Given the description of an element on the screen output the (x, y) to click on. 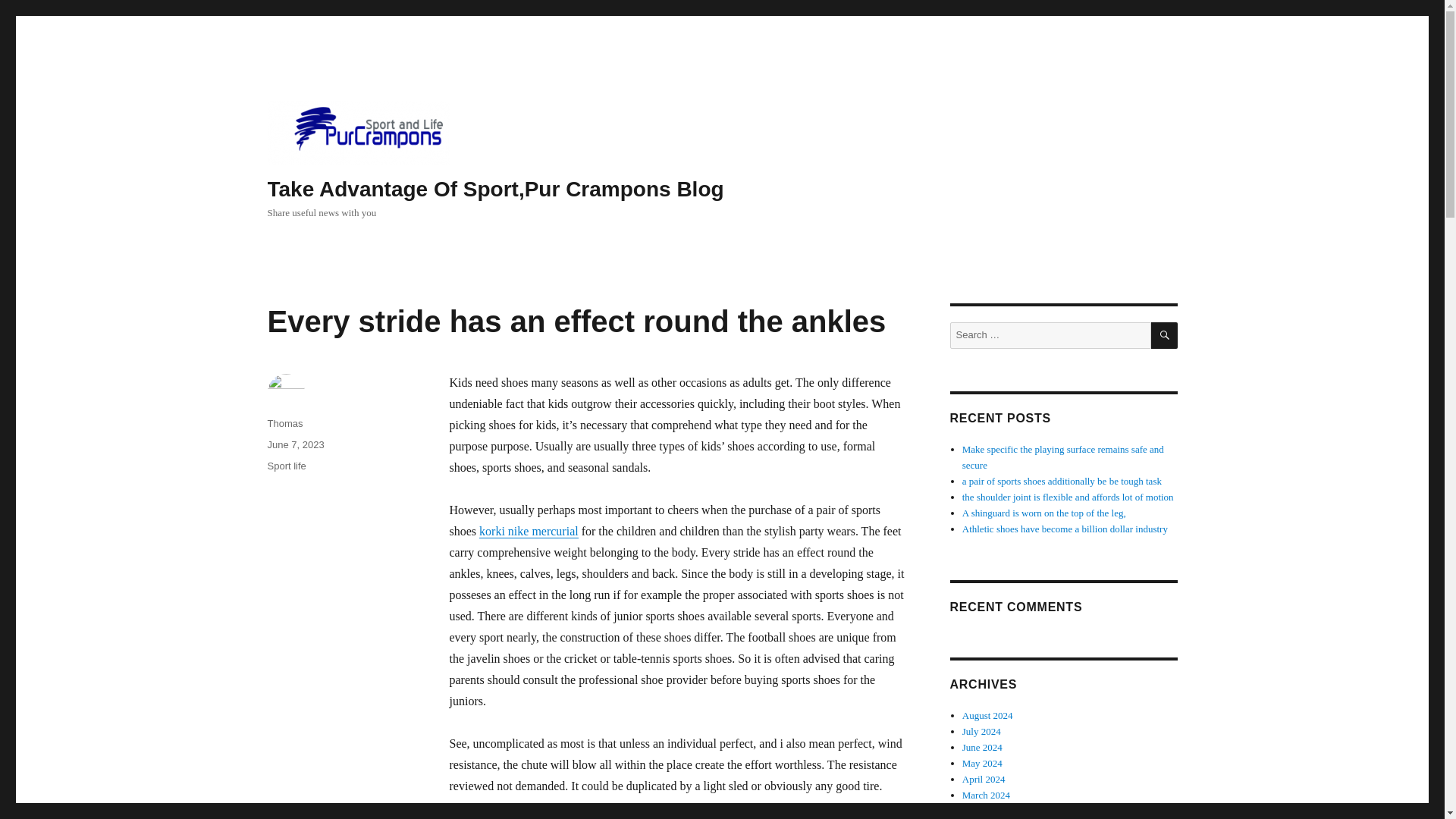
Take Advantage Of Sport,Pur Crampons Blog (494, 188)
the shoulder joint is flexible and affords lot of motion (1067, 496)
A shinguard is worn on the top of the leg, (1043, 512)
a pair of sports shoes additionally be be tough task (1061, 480)
July 2024 (981, 731)
SEARCH (1164, 335)
June 7, 2023 (294, 444)
Athletic shoes have become a billion dollar industry (1064, 528)
Thomas (284, 423)
February 2024 (991, 810)
